Given the description of an element on the screen output the (x, y) to click on. 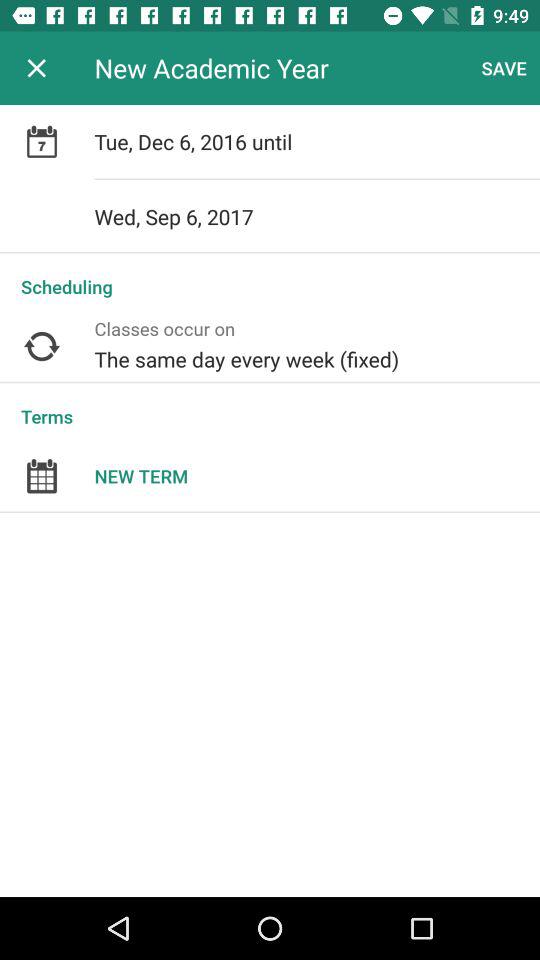
click icon below scheduling (317, 346)
